Given the description of an element on the screen output the (x, y) to click on. 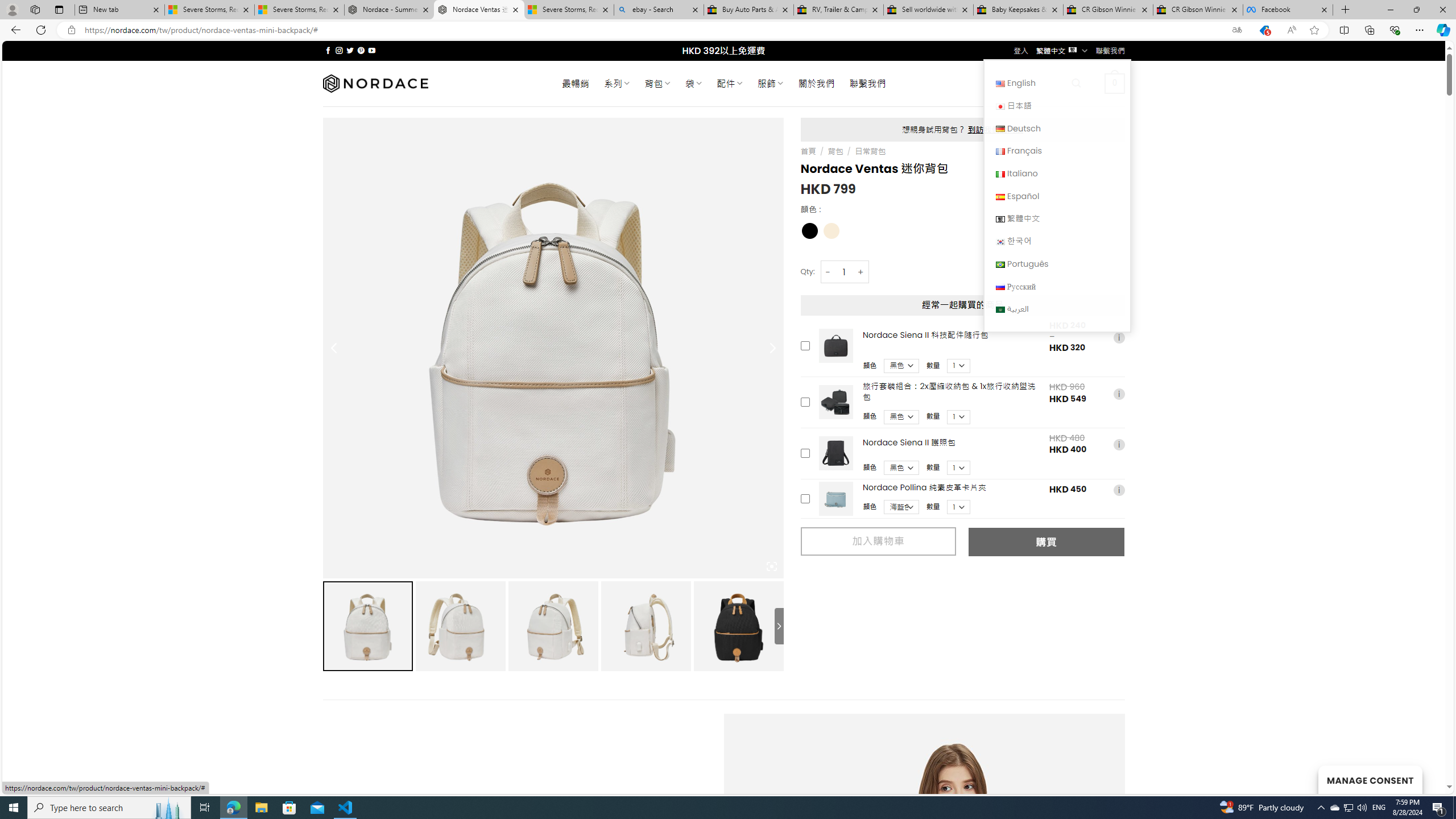
 English (1056, 83)
Show translate options (1236, 29)
RV, Trailer & Camper Steps & Ladders for sale | eBay (838, 9)
Deutsch (999, 128)
 Italiano (1056, 173)
